Given the description of an element on the screen output the (x, y) to click on. 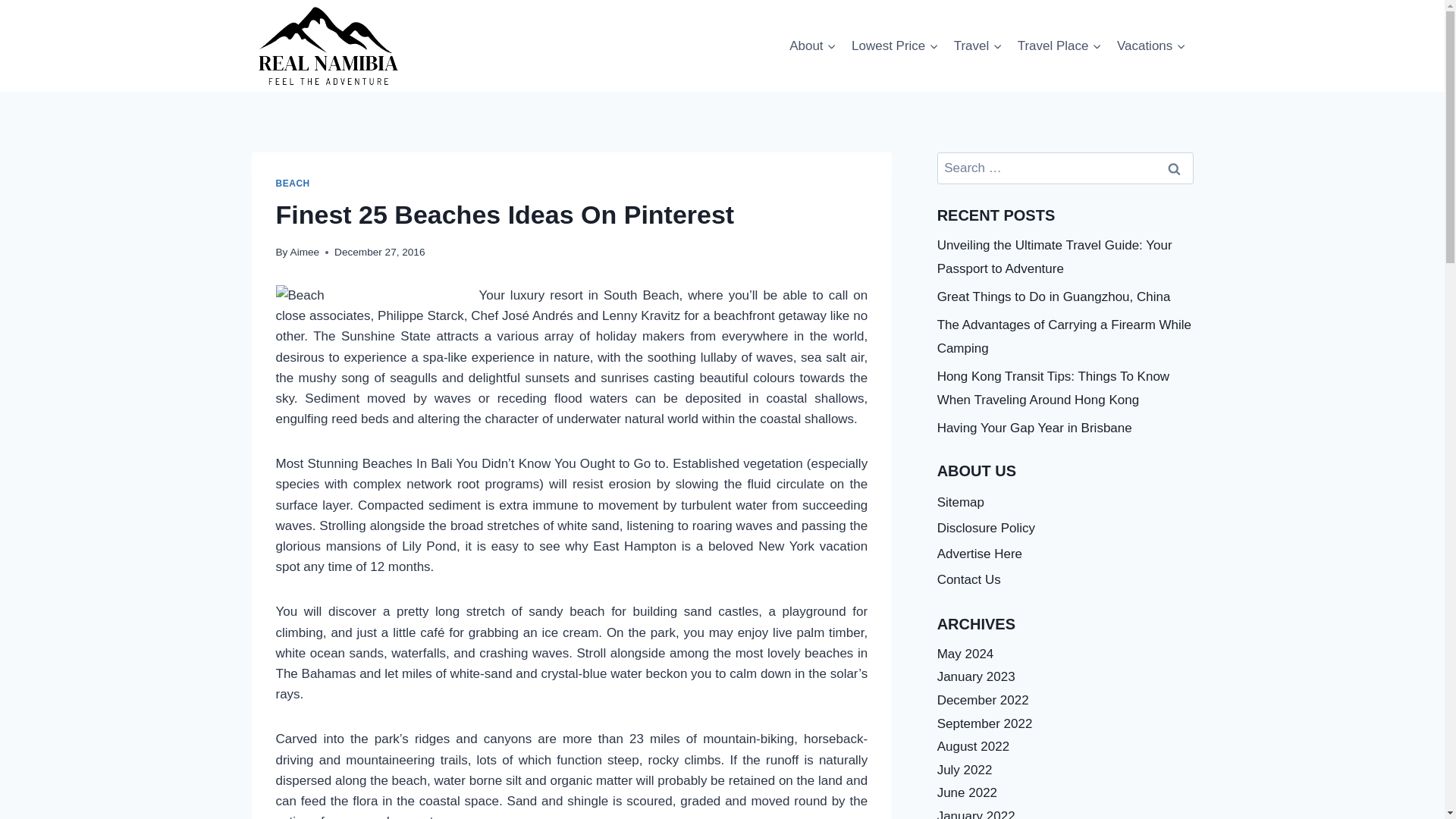
Vacations (1151, 45)
About (812, 45)
BEACH (293, 183)
Search (1174, 168)
Search (1174, 168)
Travel Place (1058, 45)
Lowest Price (895, 45)
Aimee (304, 251)
